Given the description of an element on the screen output the (x, y) to click on. 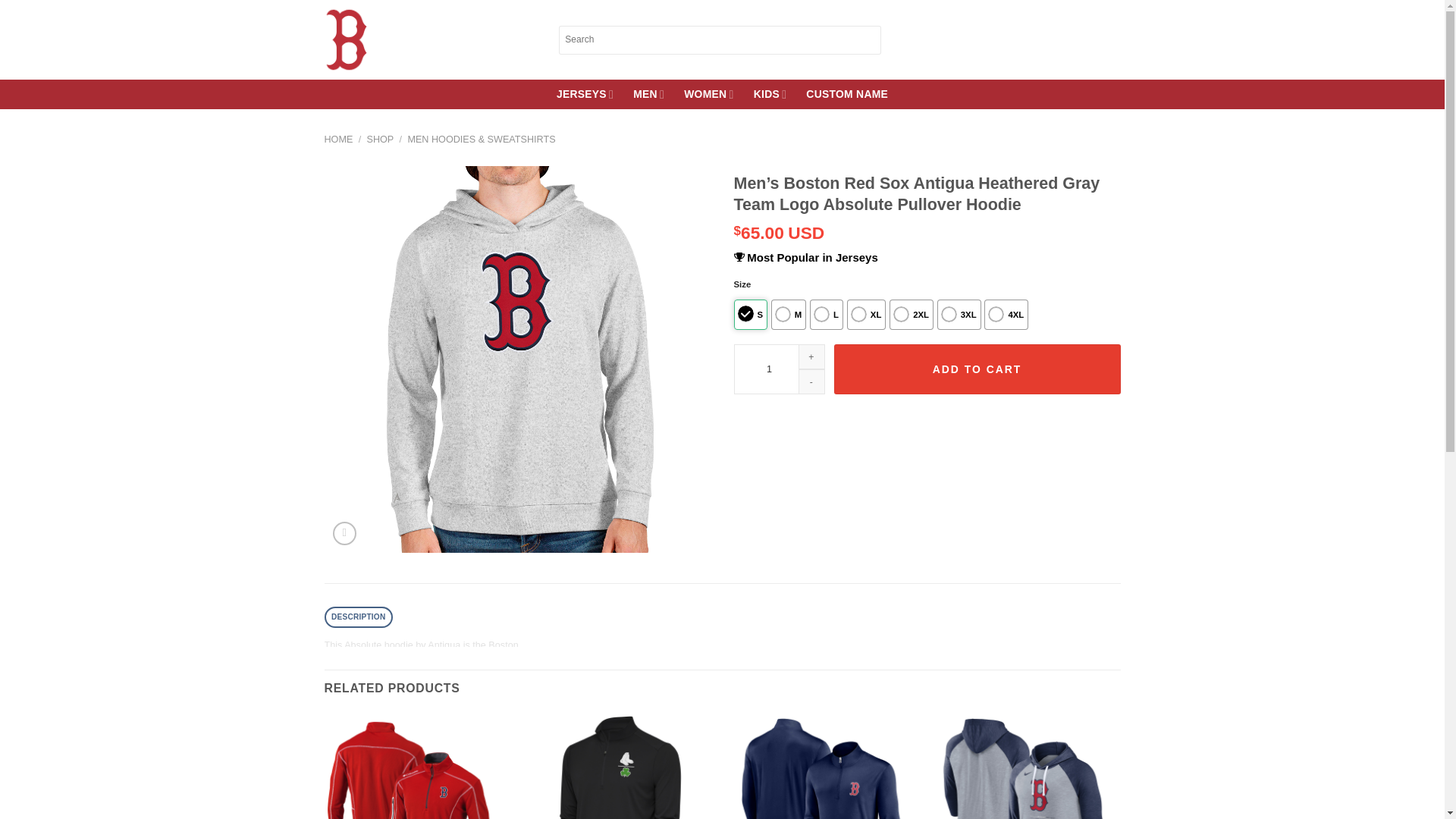
4XL (1005, 314)
Search (870, 39)
KIDS (770, 93)
S (750, 314)
Official Boston Red Sox Online Shop (429, 40)
HOME (338, 139)
JERSEYS (584, 93)
CUSTOM NAME (847, 93)
M (788, 314)
